Given the description of an element on the screen output the (x, y) to click on. 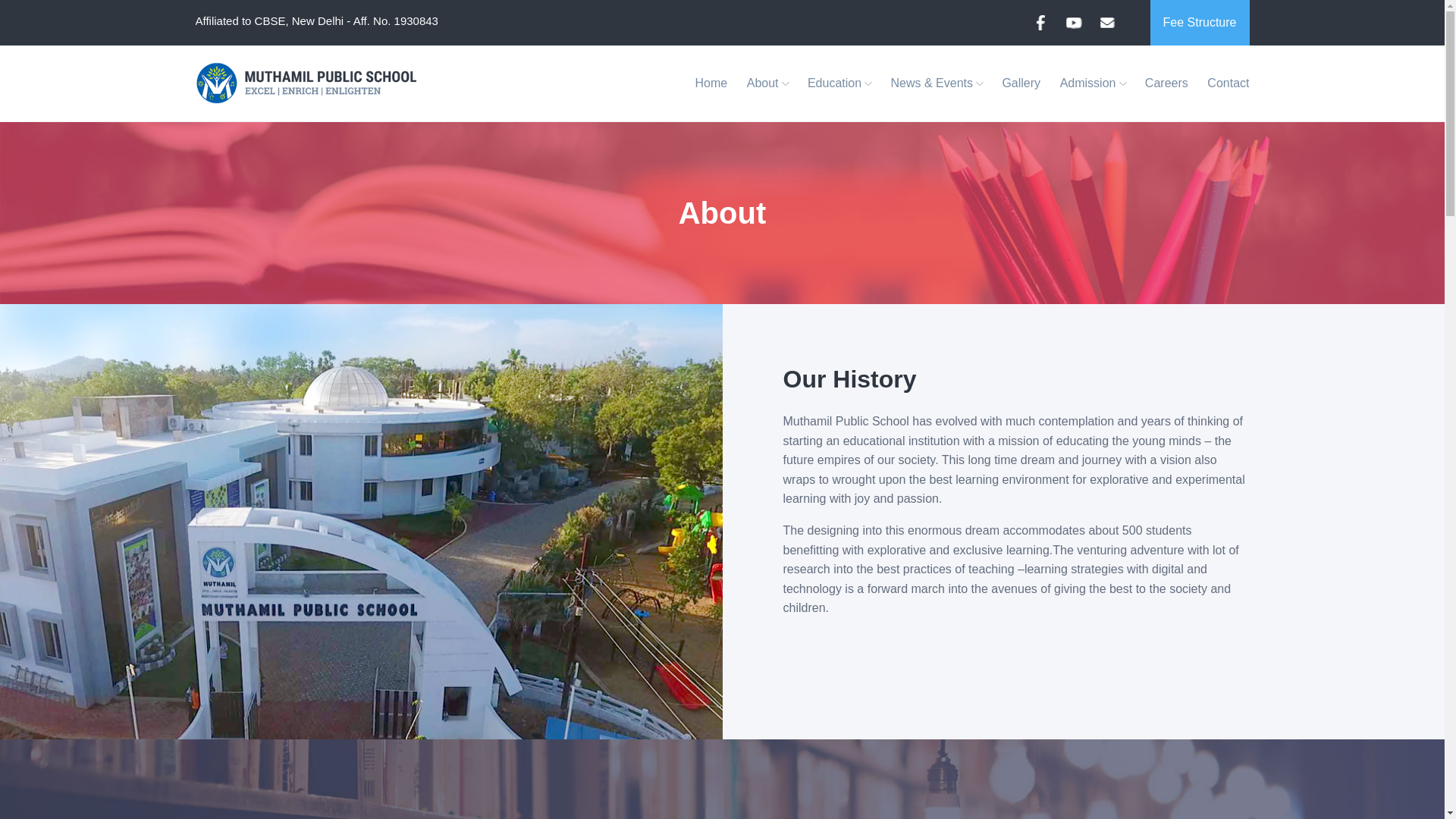
Fee Structure (1199, 22)
About (766, 83)
Fee Structure (1199, 22)
About (766, 83)
Education (838, 83)
Admission (1092, 83)
Home (710, 83)
Contact (1223, 83)
Gallery (1020, 83)
Careers (1166, 83)
